Given the description of an element on the screen output the (x, y) to click on. 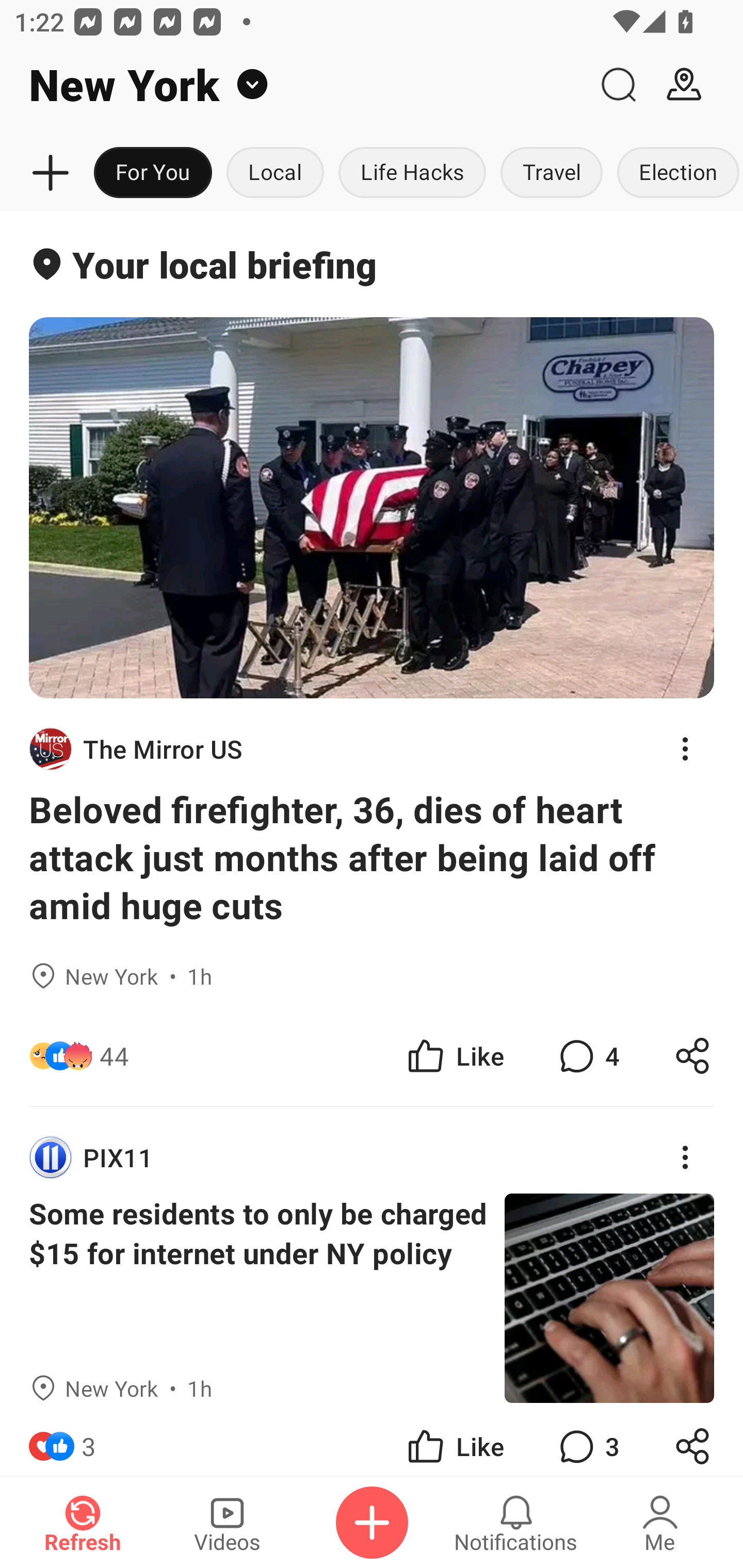
New York (292, 84)
For You (152, 172)
Local (275, 172)
Life Hacks (412, 172)
Travel (551, 172)
Election (676, 172)
44 (114, 1055)
Like (454, 1055)
4 (587, 1055)
3 (88, 1440)
Like (454, 1440)
3 (587, 1440)
Videos (227, 1522)
Notifications (516, 1522)
Me (659, 1522)
